Given the description of an element on the screen output the (x, y) to click on. 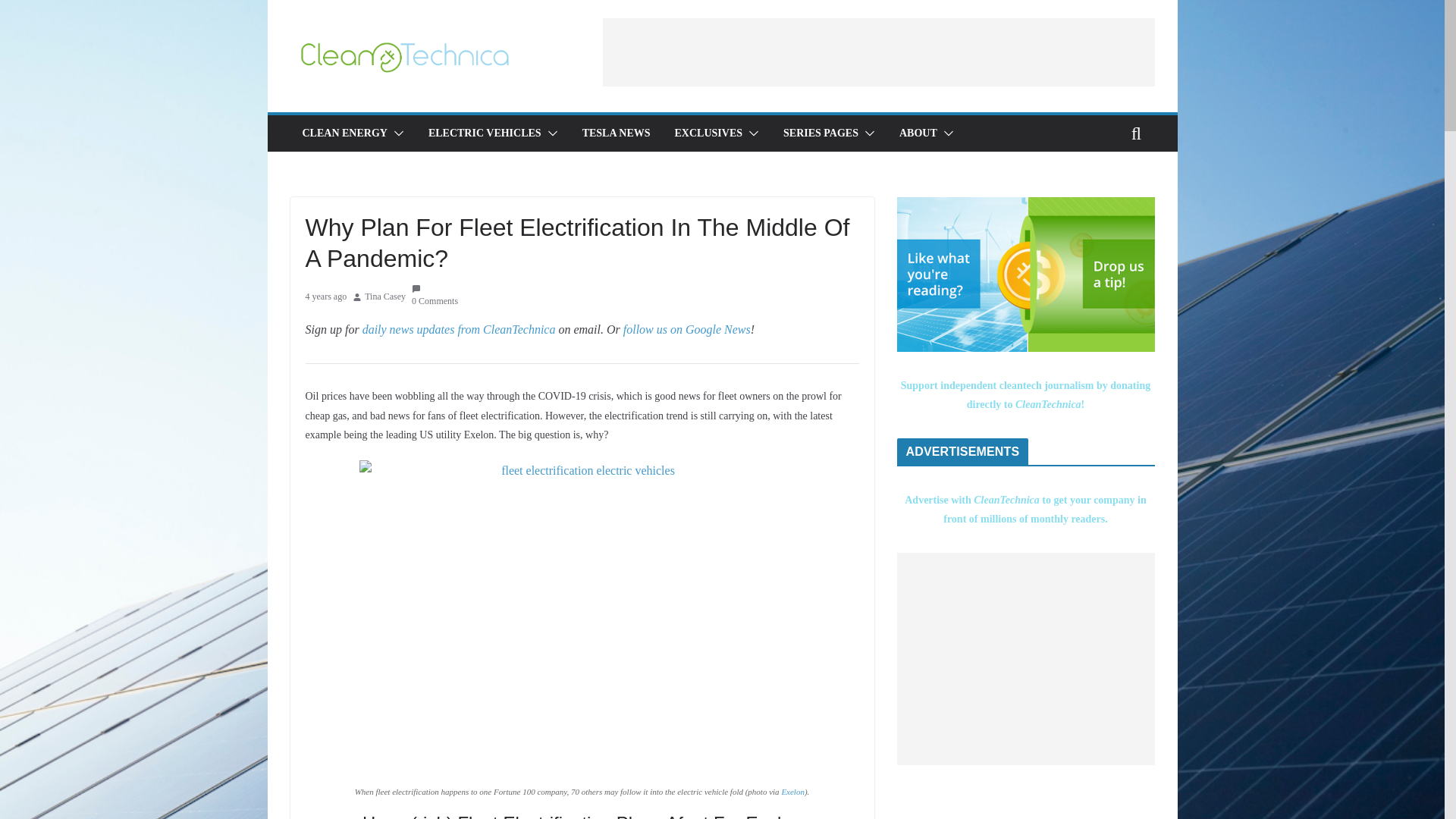
Advertisement (878, 52)
Tina Casey (385, 297)
SERIES PAGES (821, 133)
ELECTRIC VEHICLES (484, 133)
TESLA NEWS (616, 133)
CLEAN ENERGY (344, 133)
EXCLUSIVES (708, 133)
